Given the description of an element on the screen output the (x, y) to click on. 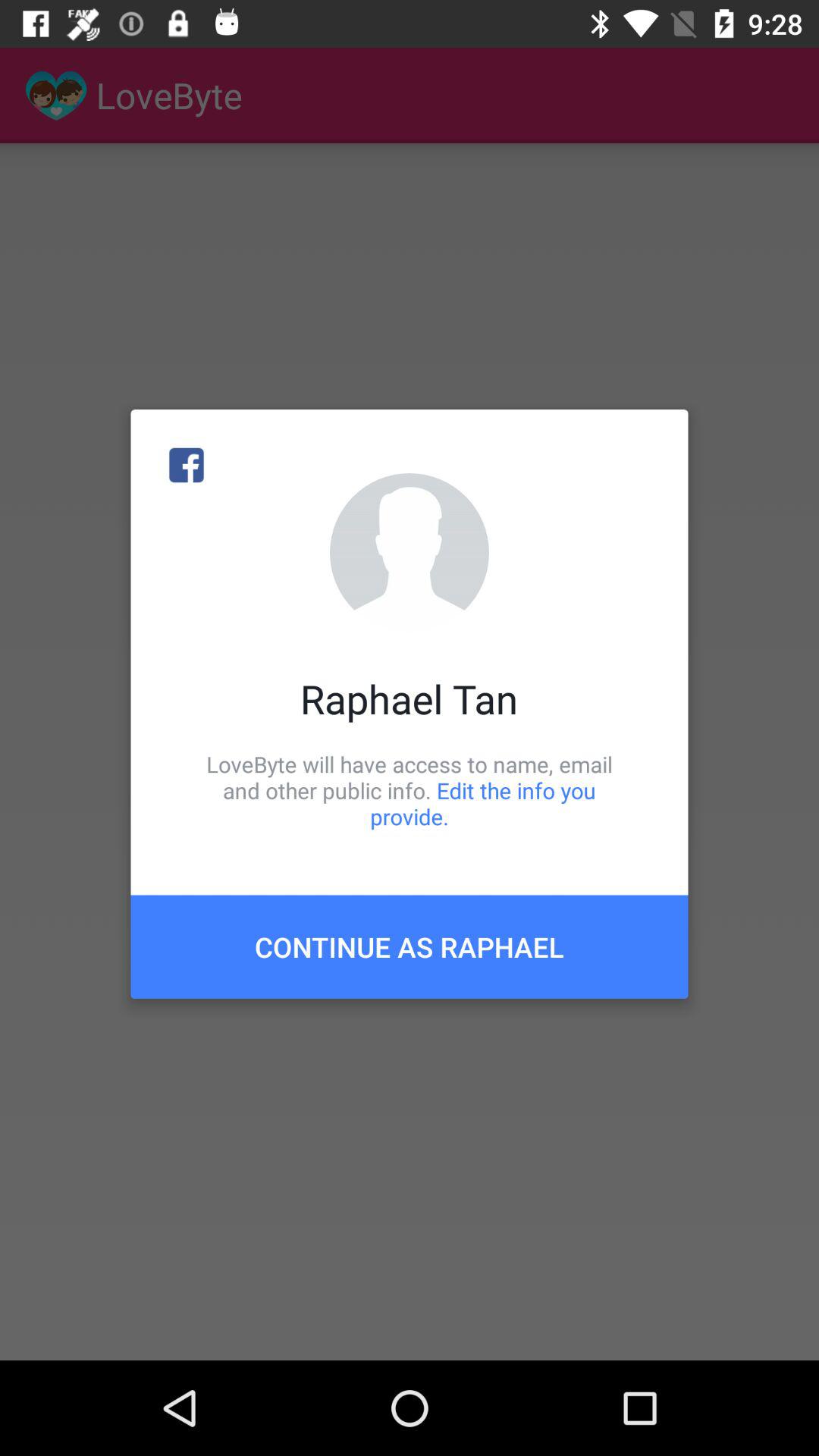
launch the item above continue as raphael icon (409, 790)
